Given the description of an element on the screen output the (x, y) to click on. 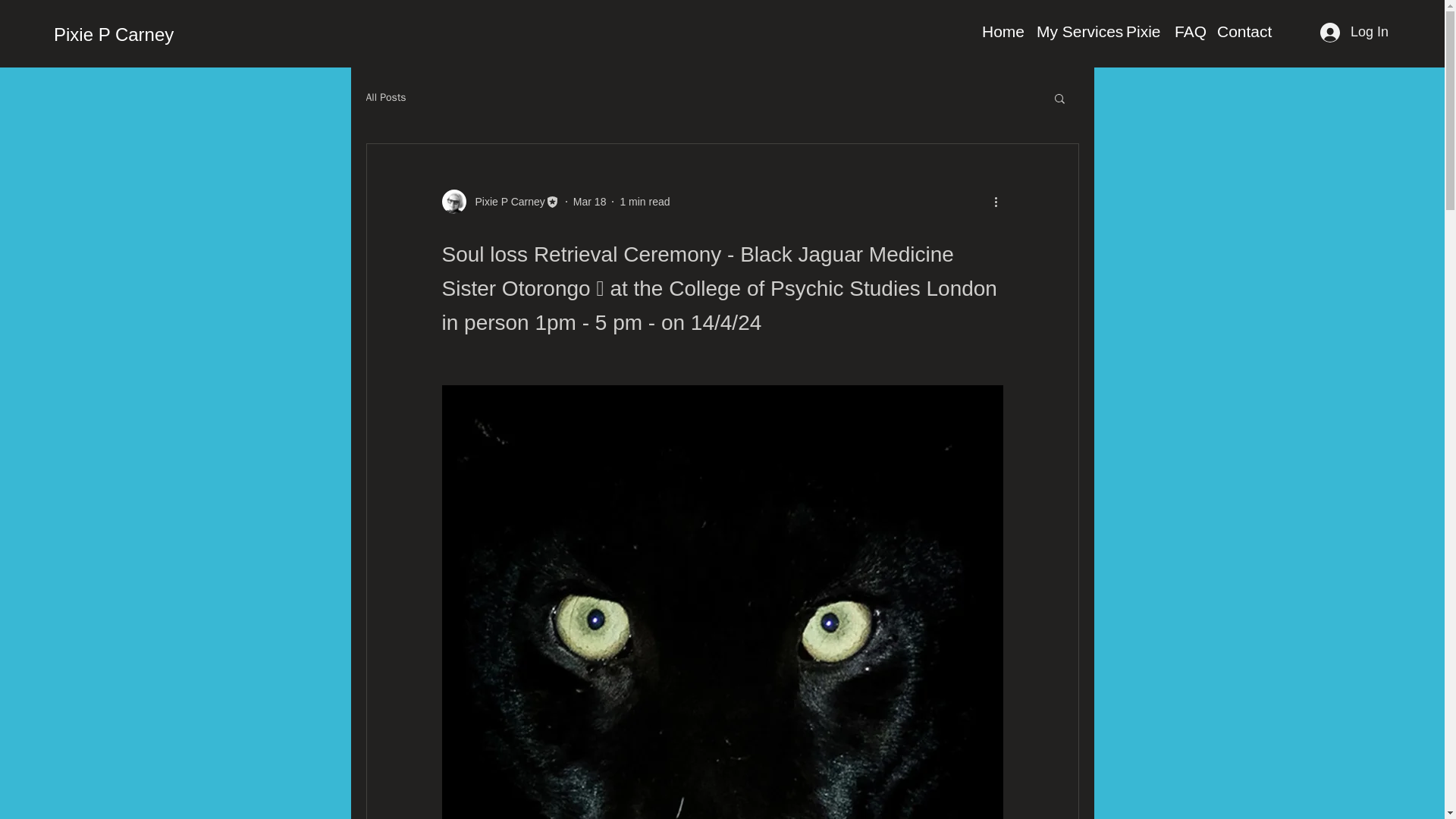
Home (1001, 31)
1 min read (644, 201)
Log In (1353, 32)
Contact (1242, 31)
Mar 18 (590, 201)
FAQ (1188, 31)
Pixie P Carney (500, 201)
All Posts (385, 97)
Pixie P Carney (113, 34)
Pixie P Carney (504, 201)
